Given the description of an element on the screen output the (x, y) to click on. 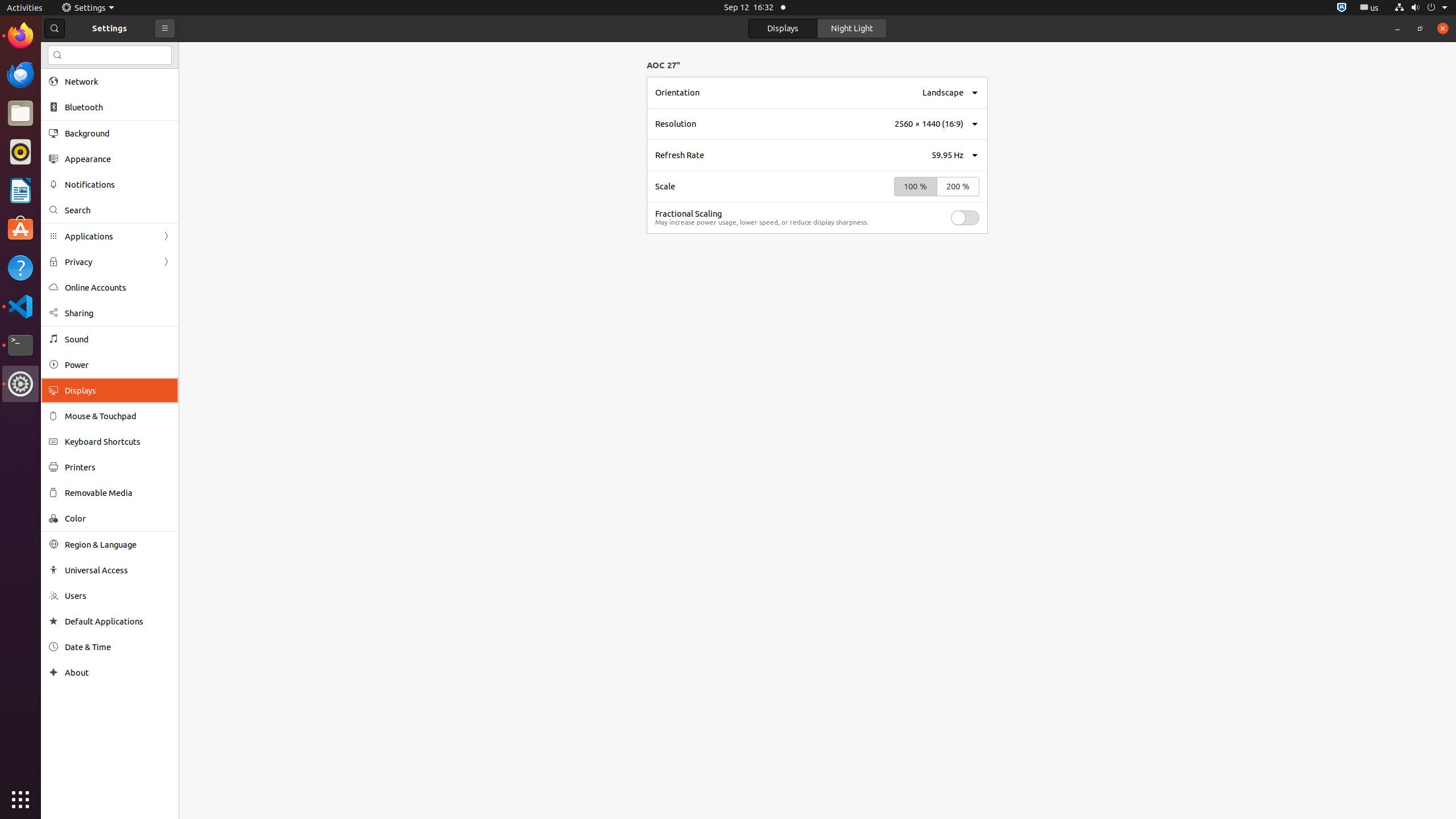
Search Element type: text (109, 54)
Region & Language Element type: label (117, 544)
Appearance Element type: label (117, 158)
Landscape Element type: label (942, 92)
